Given the description of an element on the screen output the (x, y) to click on. 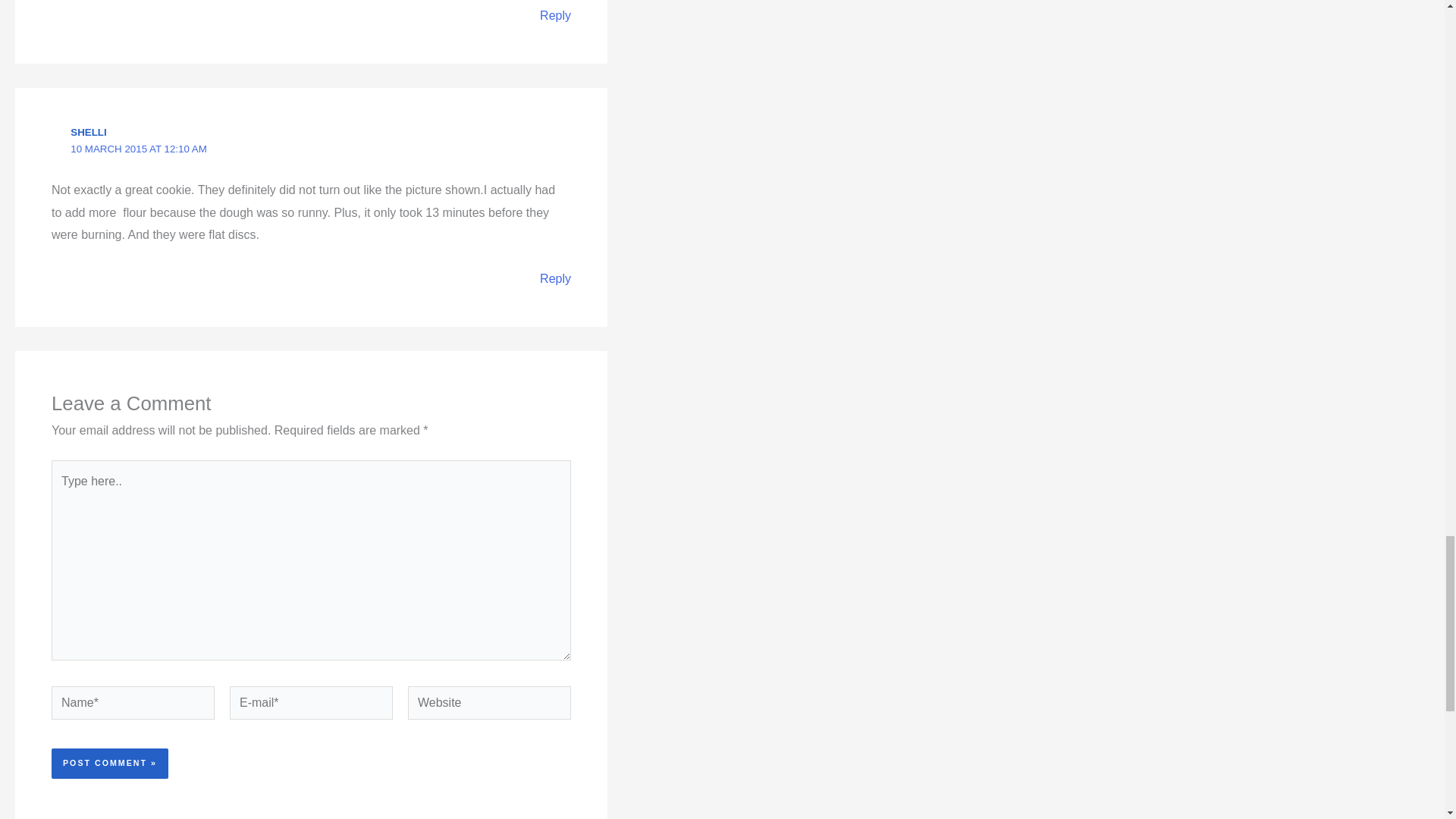
10 MARCH 2015 AT 12:10 AM (137, 148)
Reply (555, 278)
Reply (555, 15)
